Given the description of an element on the screen output the (x, y) to click on. 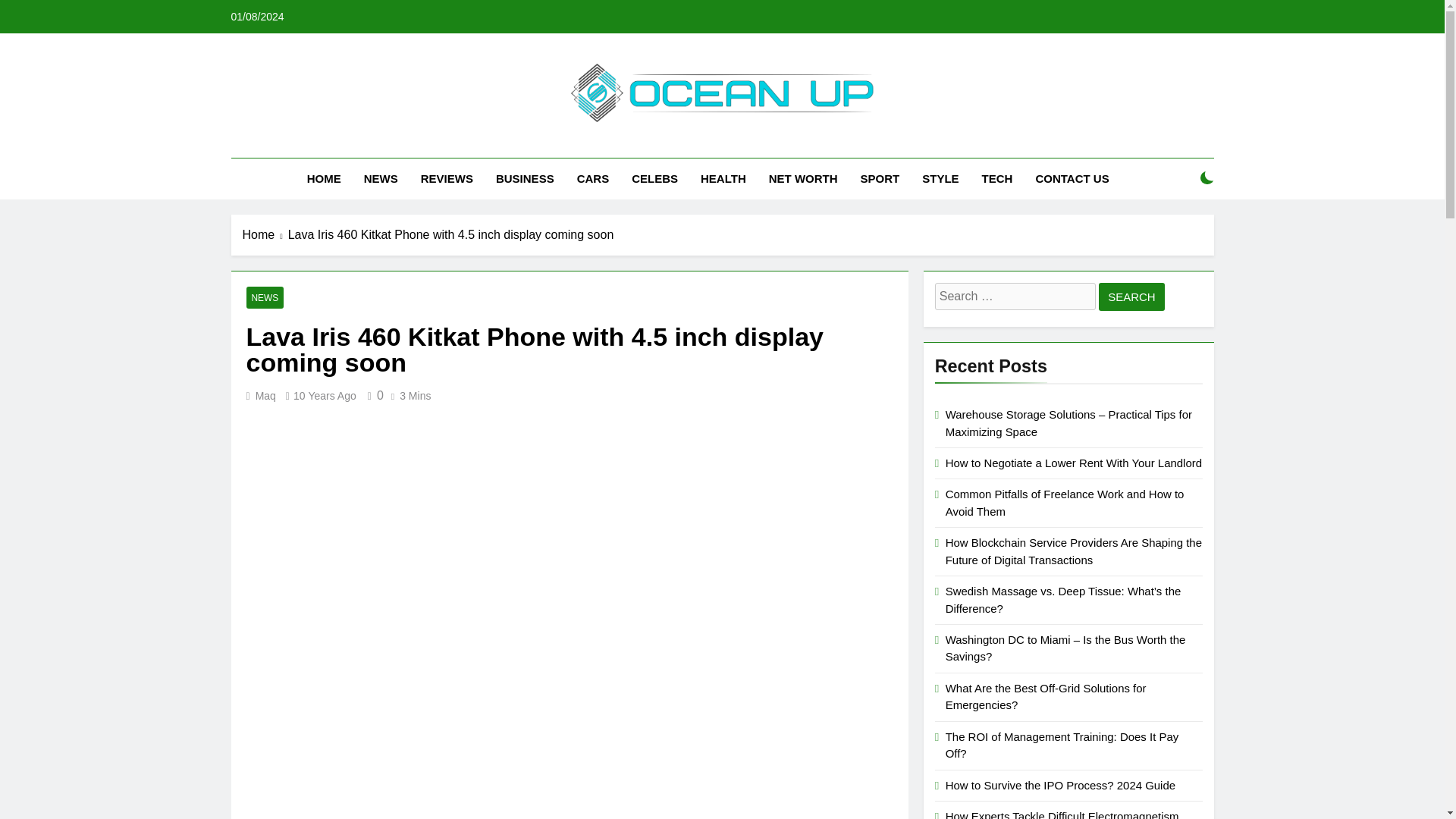
on (1206, 178)
HOME (323, 178)
CELEBS (654, 178)
SPORT (879, 178)
HEALTH (722, 178)
Search (1131, 296)
REVIEWS (446, 178)
Search (1131, 296)
0 (373, 395)
Oceanup (545, 143)
NET WORTH (802, 178)
NEWS (380, 178)
Home (265, 235)
TECH (998, 178)
BUSINESS (525, 178)
